Given the description of an element on the screen output the (x, y) to click on. 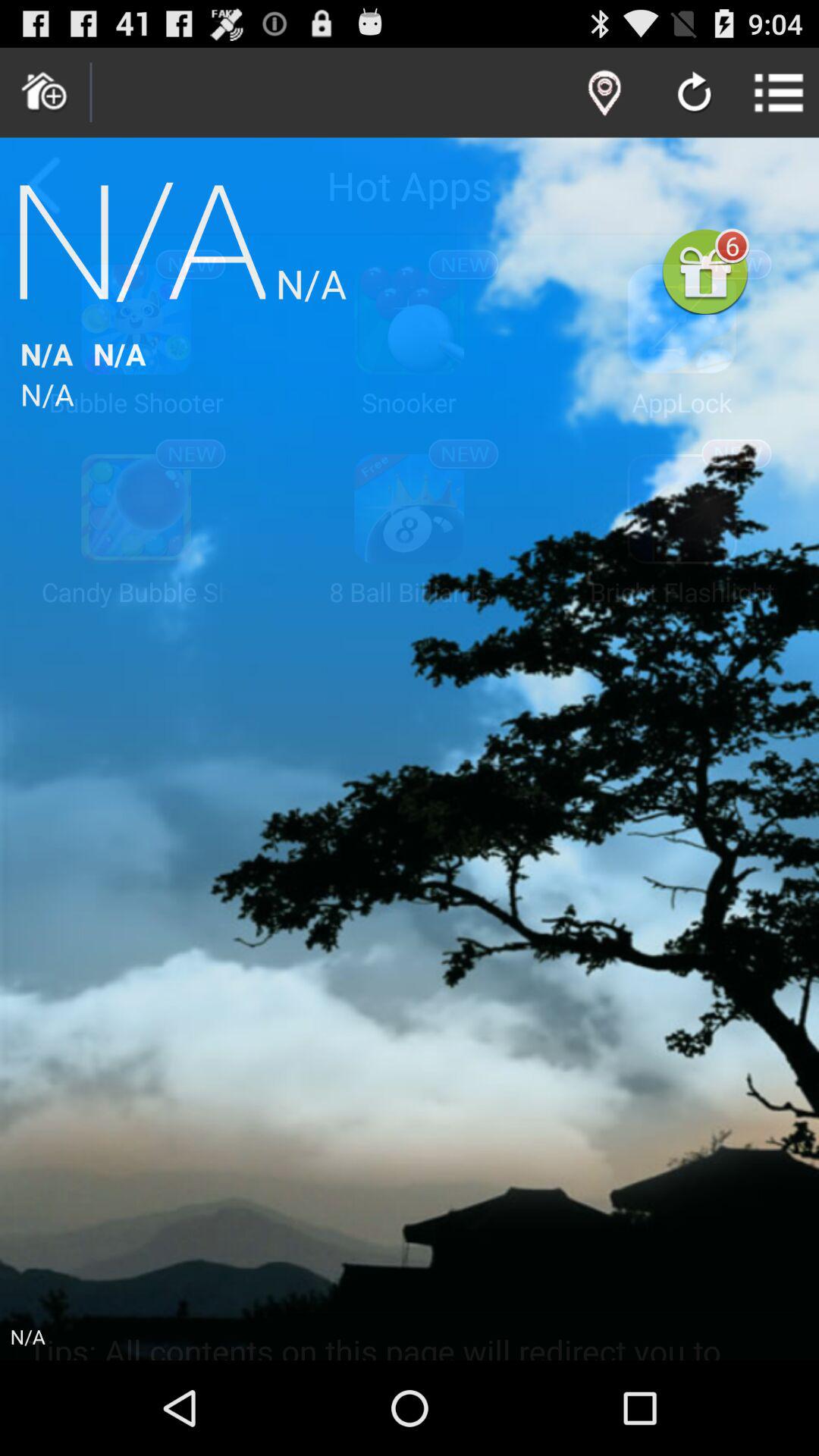
open menu list (779, 92)
